Given the description of an element on the screen output the (x, y) to click on. 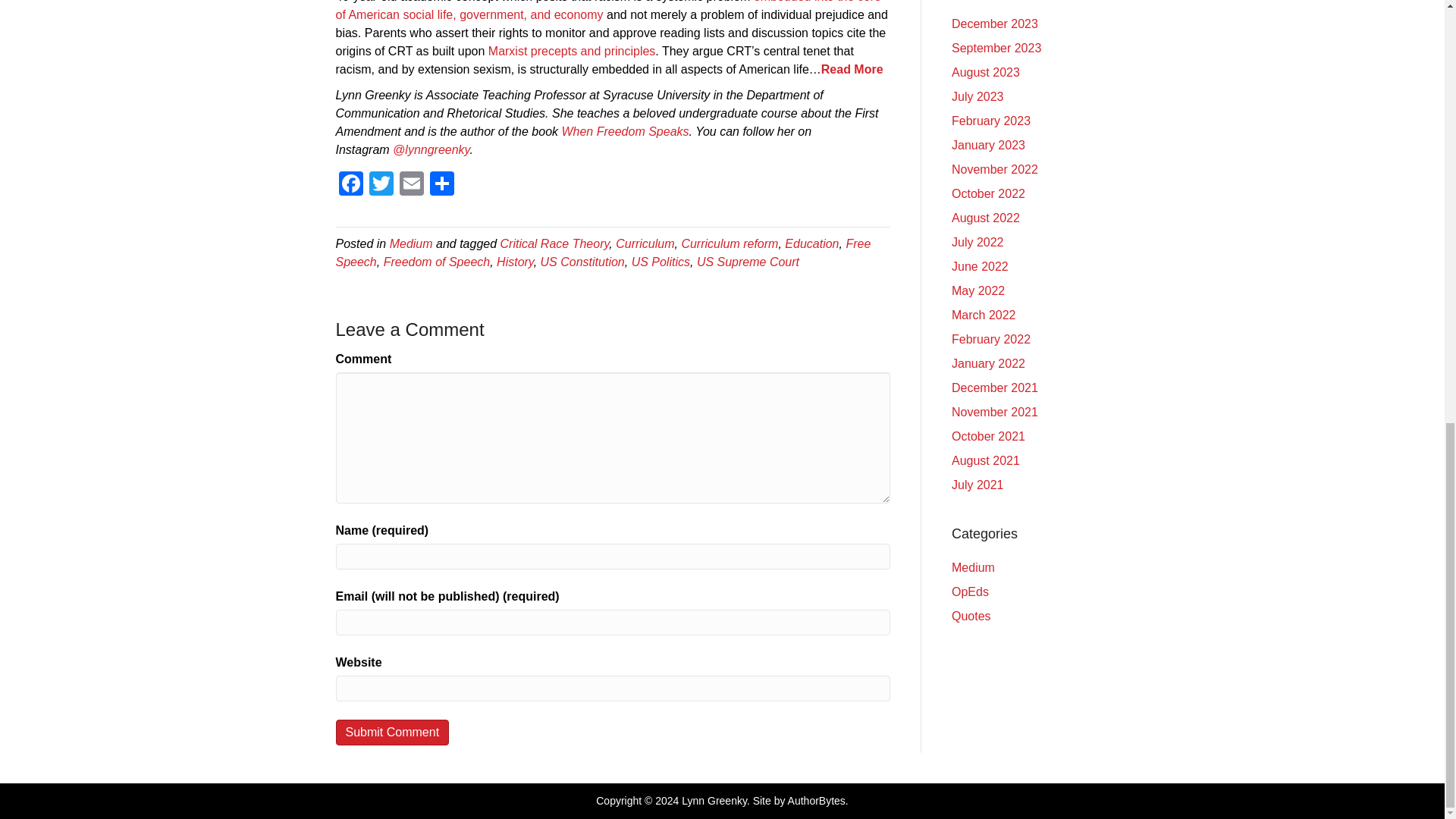
Education (811, 243)
Marxist precepts and principles (571, 51)
Email (411, 185)
Curriculum reform (729, 243)
Submit Comment (391, 731)
Email (411, 185)
US Constitution (582, 261)
Facebook (349, 185)
Freedom of Speech (437, 261)
